Given the description of an element on the screen output the (x, y) to click on. 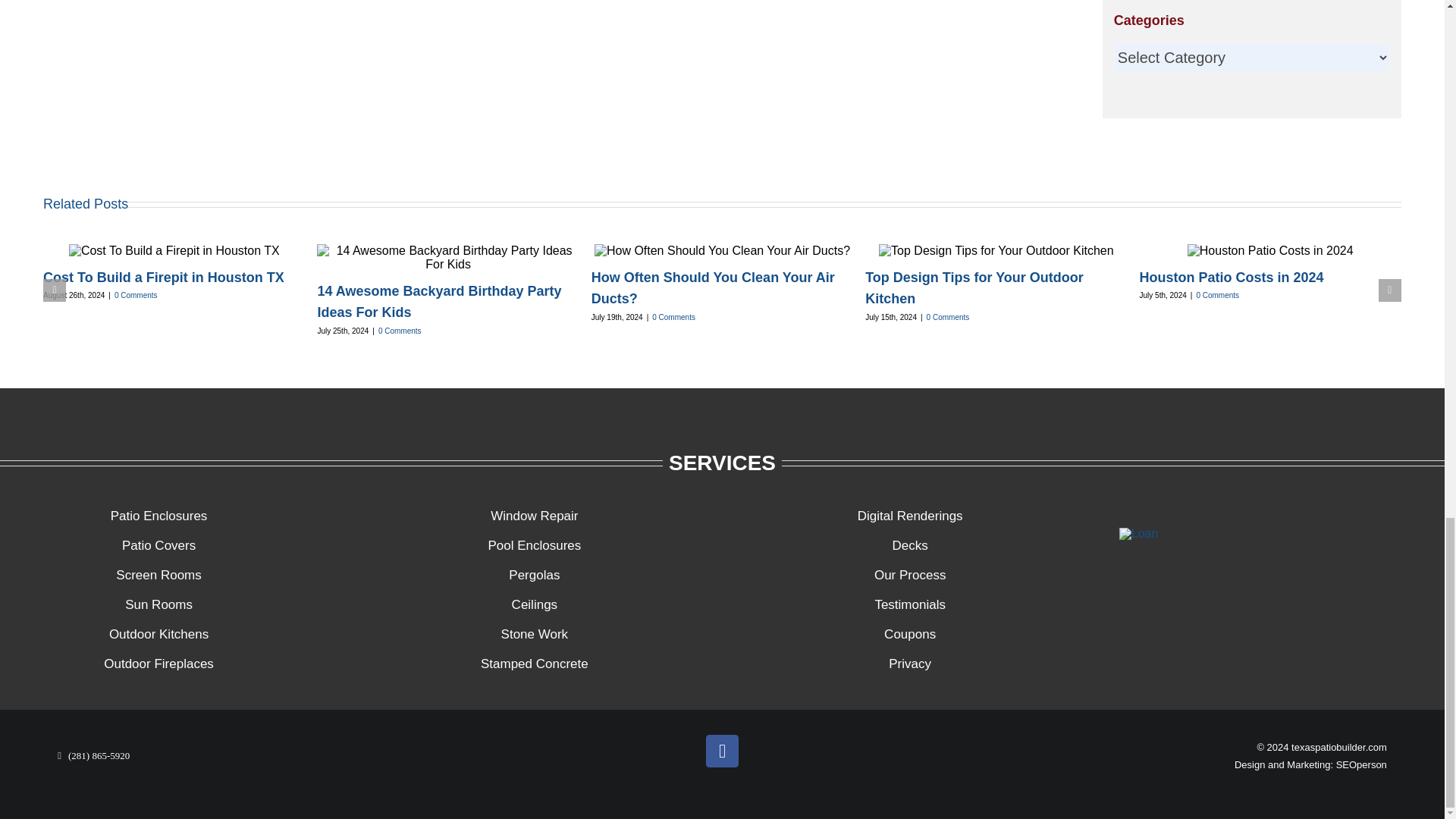
14 Awesome Backyard Birthday Party Ideas For Kids (438, 301)
Houston Patio Costs in 2024 (1231, 277)
Cost To Build a Firepit in Houston TX (163, 277)
Top Design Tips for Your Outdoor Kitchen (973, 288)
How Often Should You Clean Your Air Ducts? (712, 288)
